Given the description of an element on the screen output the (x, y) to click on. 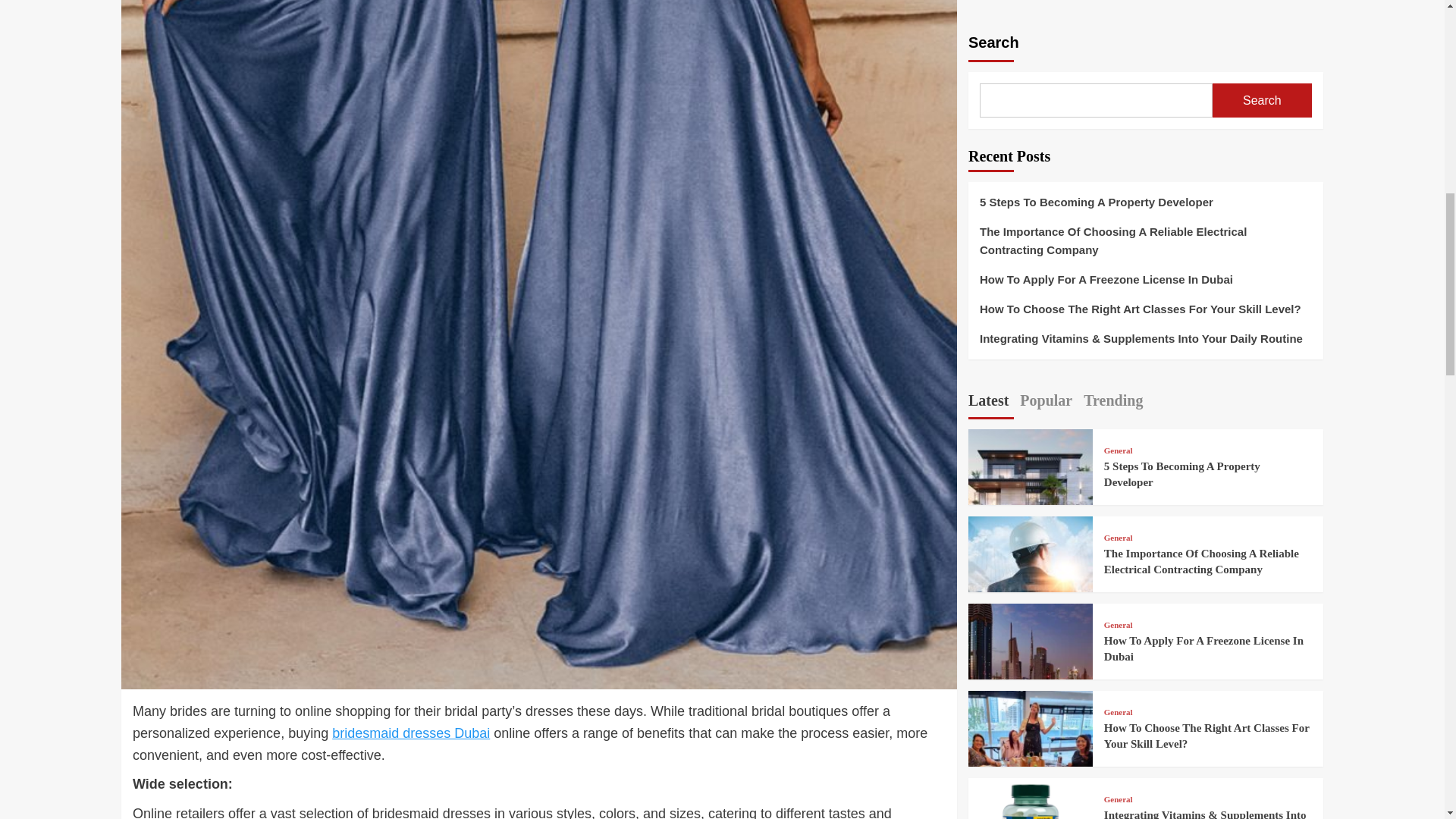
bridesmaid dresses Dubai (410, 733)
